Given the description of an element on the screen output the (x, y) to click on. 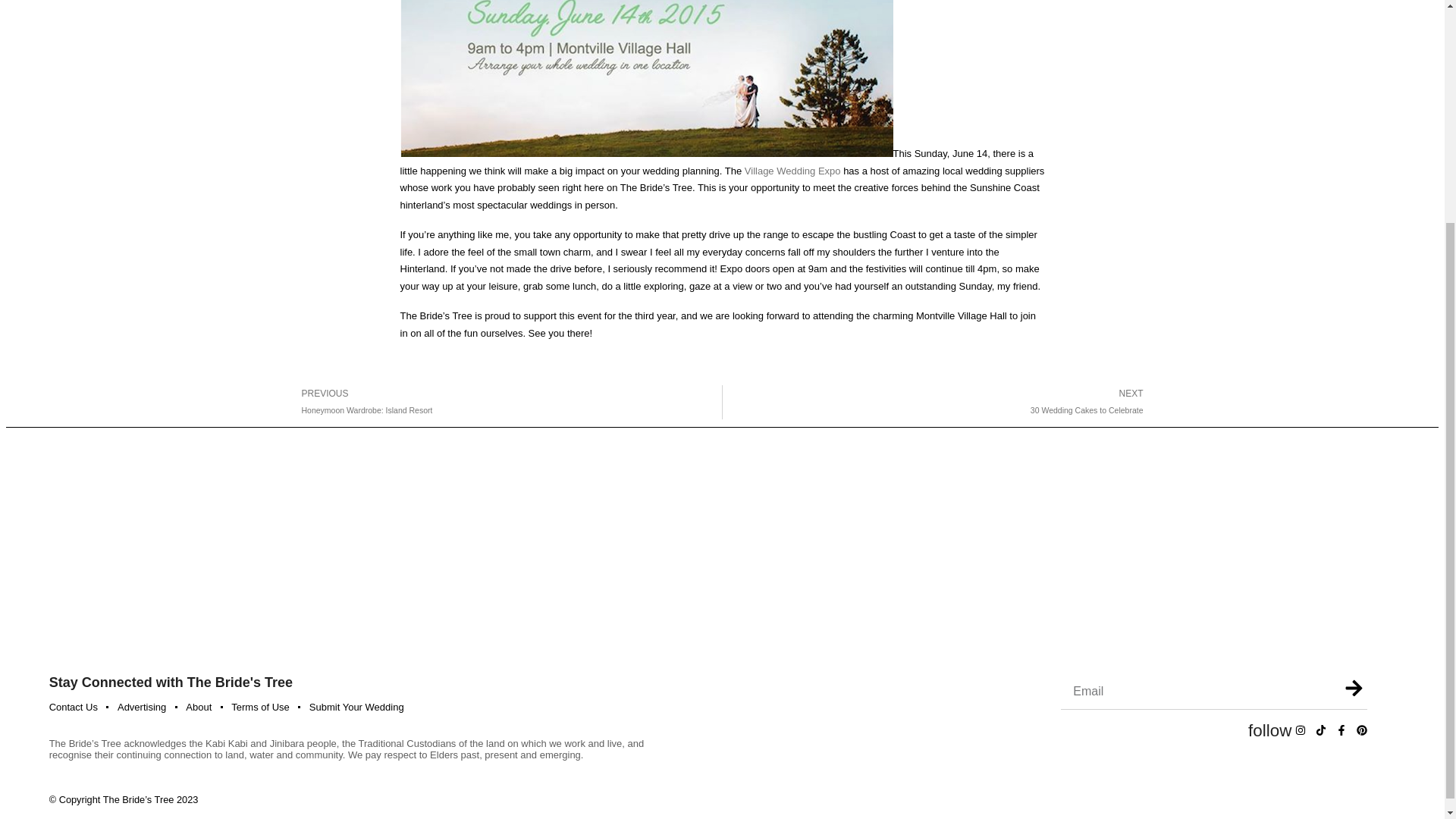
About (198, 707)
Village Wedding Expo (792, 170)
Contact Us (73, 707)
Submit Your Wedding (356, 707)
Terms of Use (505, 401)
Advertising (260, 707)
